Given the description of an element on the screen output the (x, y) to click on. 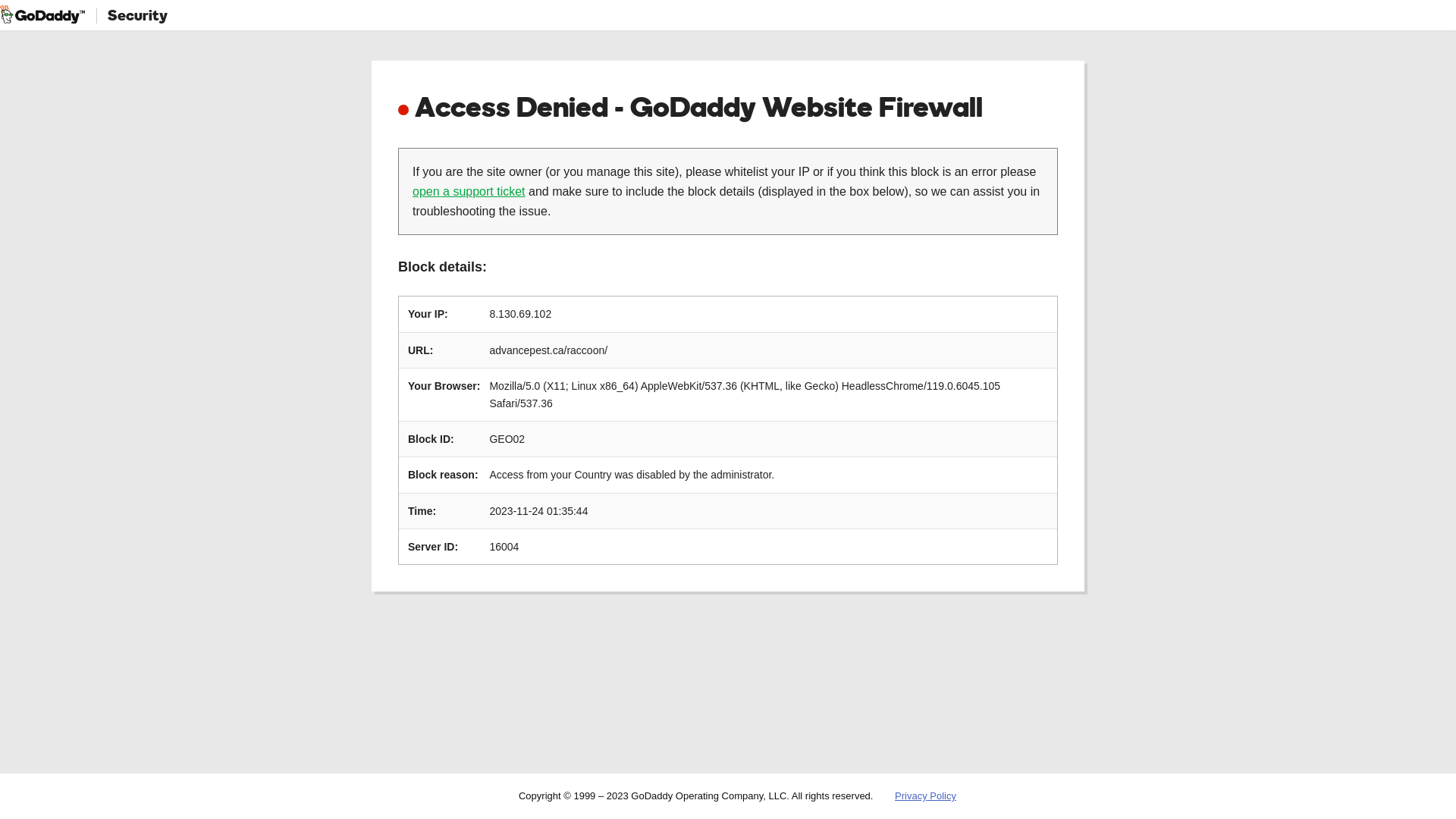
Privacy Policy Element type: text (925, 795)
open a support ticket Element type: text (468, 191)
